Given the description of an element on the screen output the (x, y) to click on. 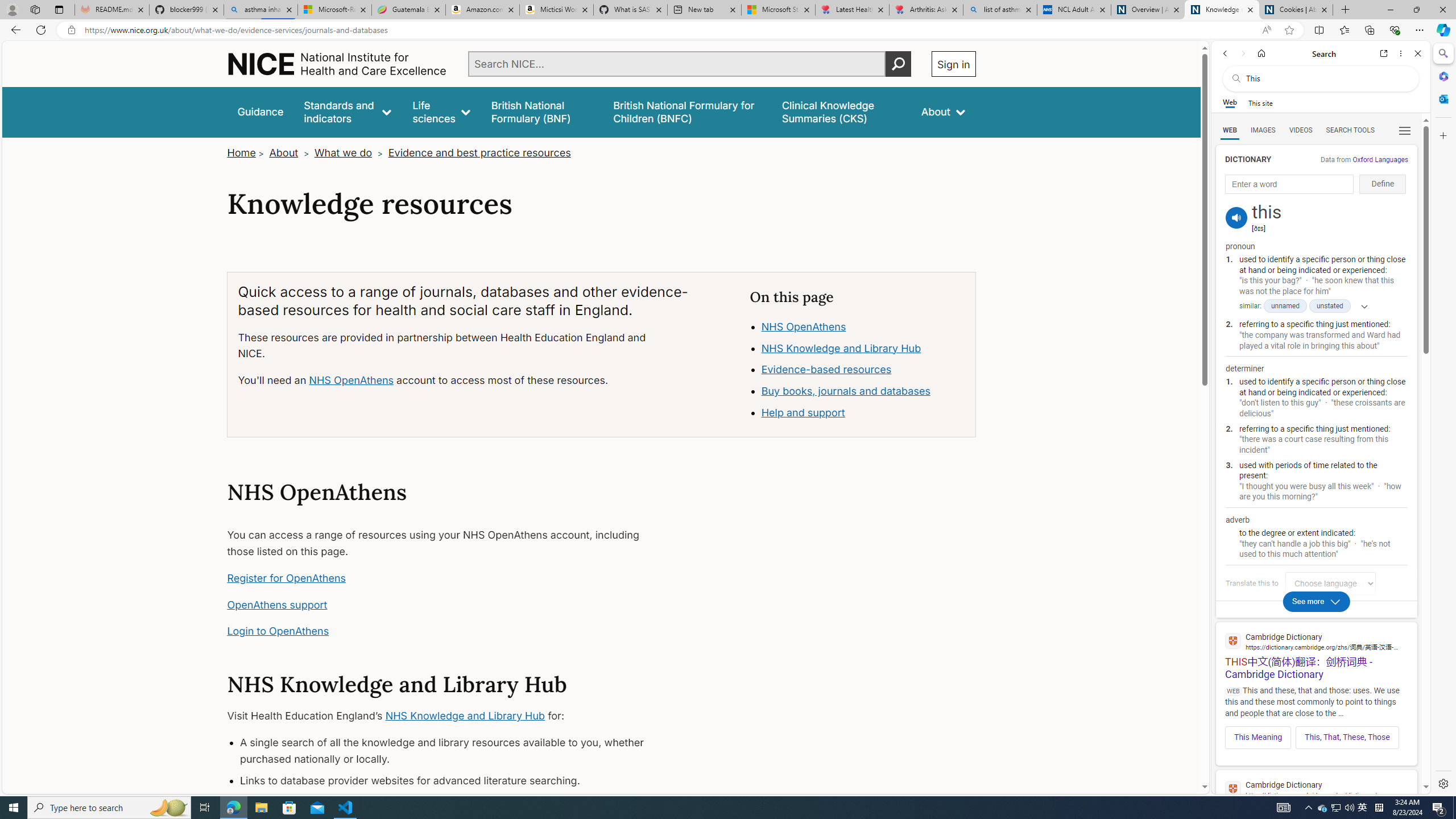
Translate this to Choose language (1329, 582)
Show more (1360, 305)
asthma inhaler - Search (260, 9)
unnamed (1285, 305)
About> (290, 152)
This, That, These, Those (1347, 737)
Oxford Languages (1379, 159)
